Given the description of an element on the screen output the (x, y) to click on. 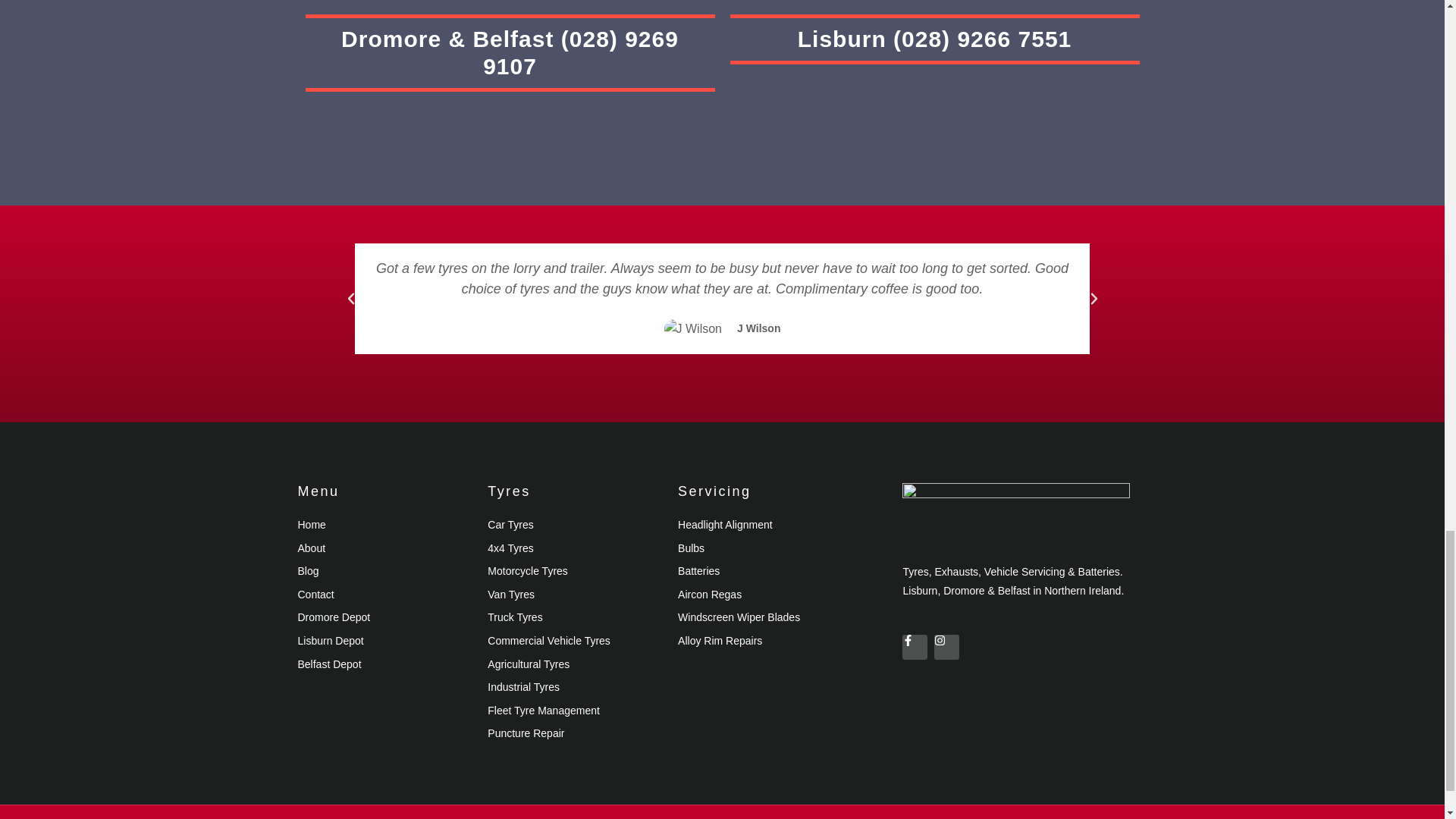
Lisburn Depot (384, 641)
Contact (384, 595)
Dromore Depot (384, 618)
About (384, 548)
Blog (384, 571)
Home (384, 525)
